Given the description of an element on the screen output the (x, y) to click on. 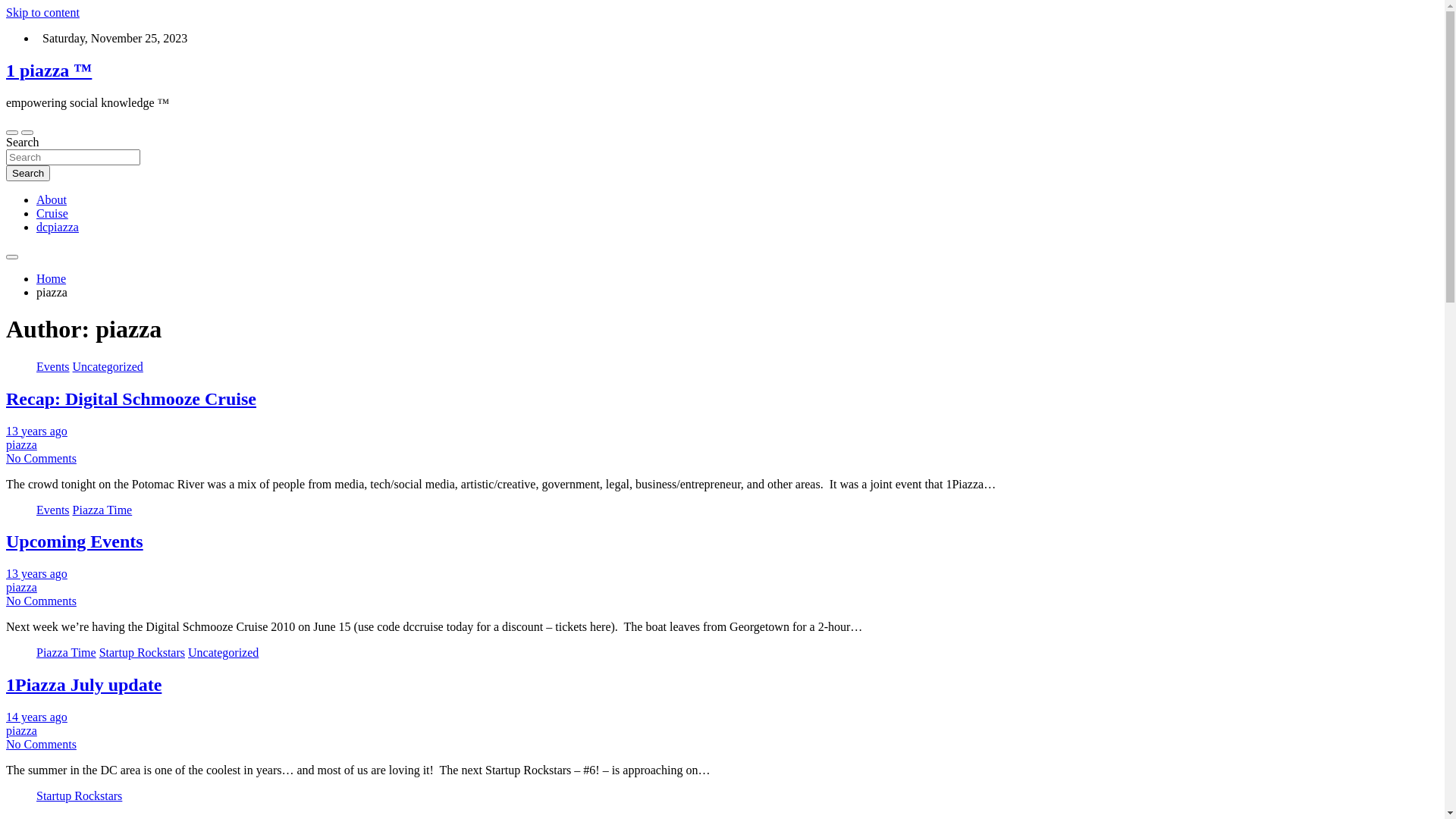
Home Element type: text (50, 278)
Startup Rockstars Element type: text (79, 795)
piazza Element type: text (21, 730)
Recap: Digital Schmooze Cruise Element type: text (131, 398)
Events Element type: text (52, 366)
About Element type: text (51, 199)
Startup Rockstars Element type: text (142, 652)
Uncategorized Element type: text (223, 652)
Search Element type: text (28, 173)
Skip to content Element type: text (42, 12)
Upcoming Events Element type: text (74, 541)
13 years ago Element type: text (36, 430)
Cruise Element type: text (52, 213)
1Piazza July update Element type: text (83, 684)
Piazza Time Element type: text (102, 509)
No Comments Element type: text (41, 743)
No Comments Element type: text (41, 457)
Uncategorized Element type: text (107, 366)
13 years ago Element type: text (36, 573)
Events Element type: text (52, 509)
Piazza Time Element type: text (66, 652)
dcpiazza Element type: text (57, 226)
piazza Element type: text (21, 444)
14 years ago Element type: text (36, 716)
piazza Element type: text (21, 586)
No Comments Element type: text (41, 600)
